Given the description of an element on the screen output the (x, y) to click on. 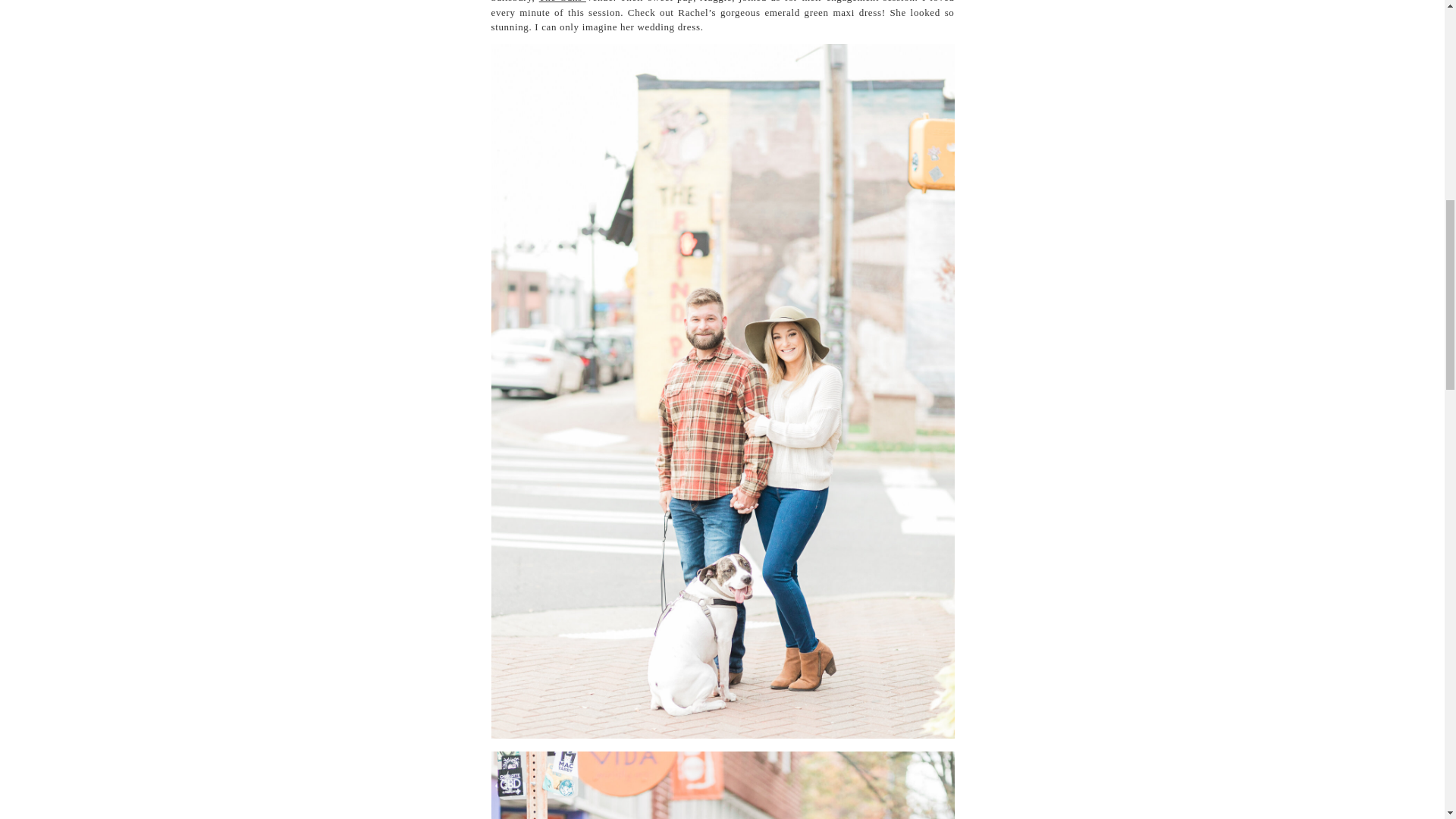
The Oaks (562, 1)
